Given the description of an element on the screen output the (x, y) to click on. 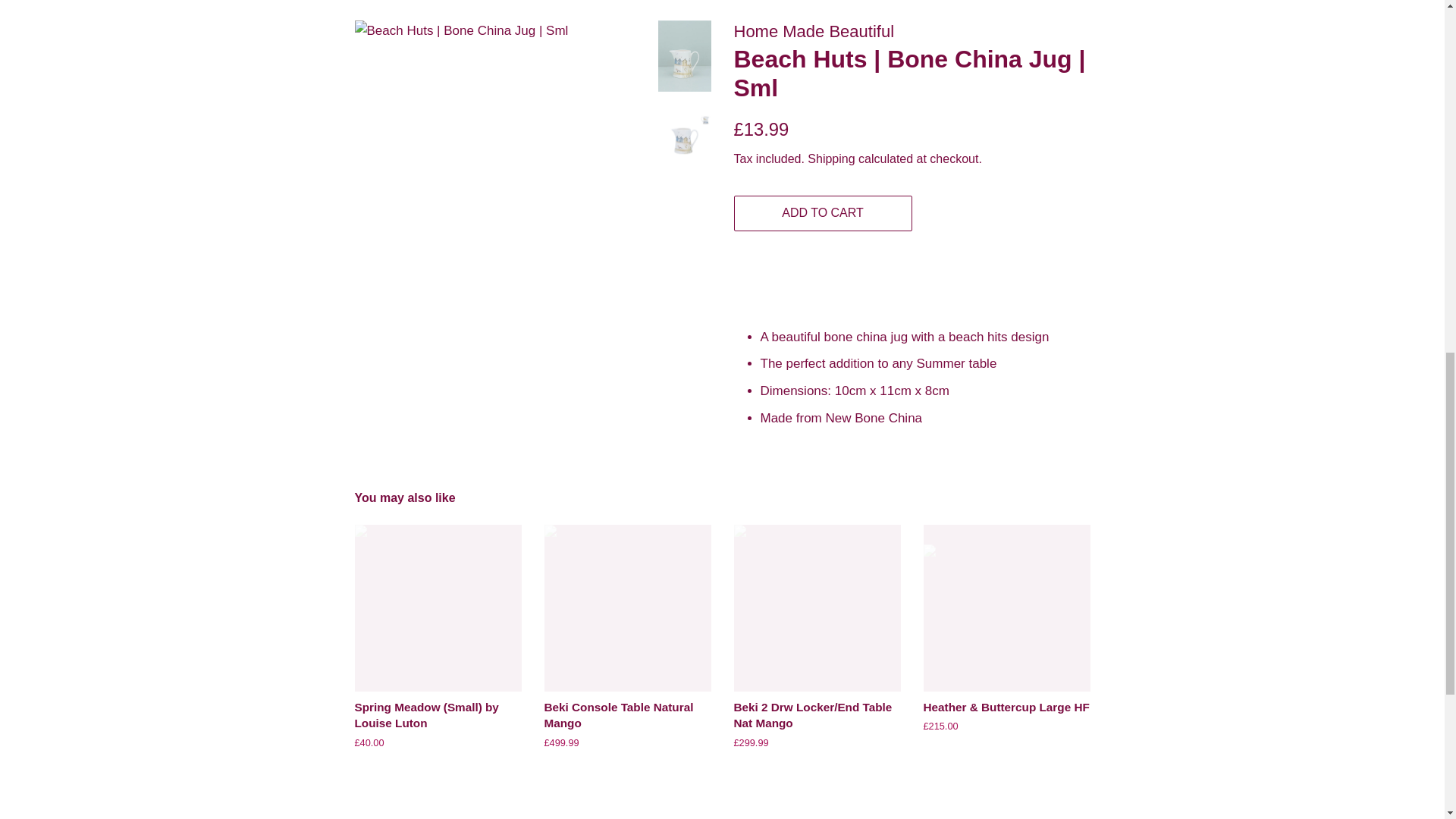
ADD TO CART (822, 212)
Shipping (831, 158)
